Given the description of an element on the screen output the (x, y) to click on. 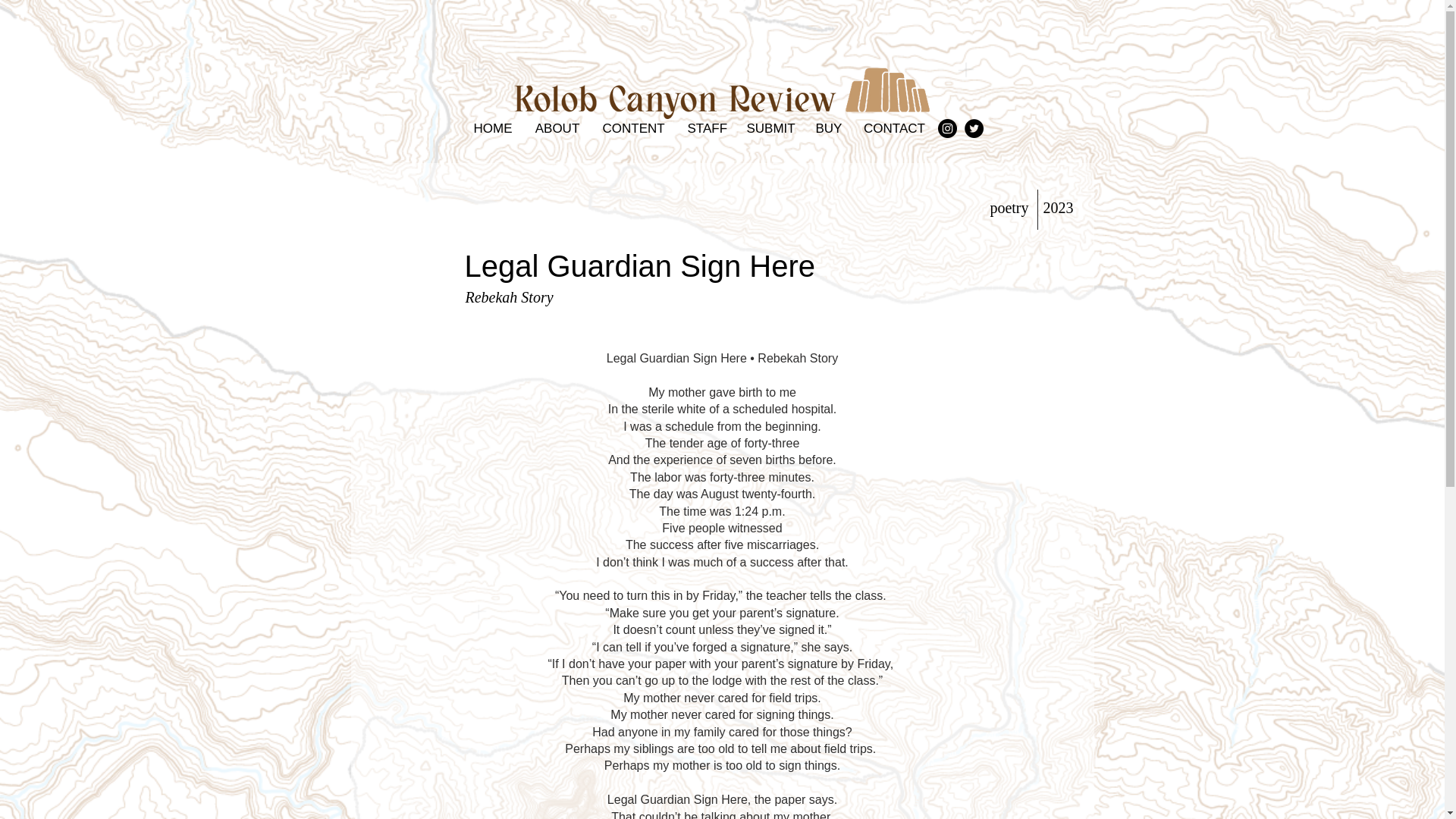
ABOUT (556, 128)
SUBMIT (770, 128)
HOME (493, 128)
CONTACT (894, 128)
BUY (827, 128)
